Given the description of an element on the screen output the (x, y) to click on. 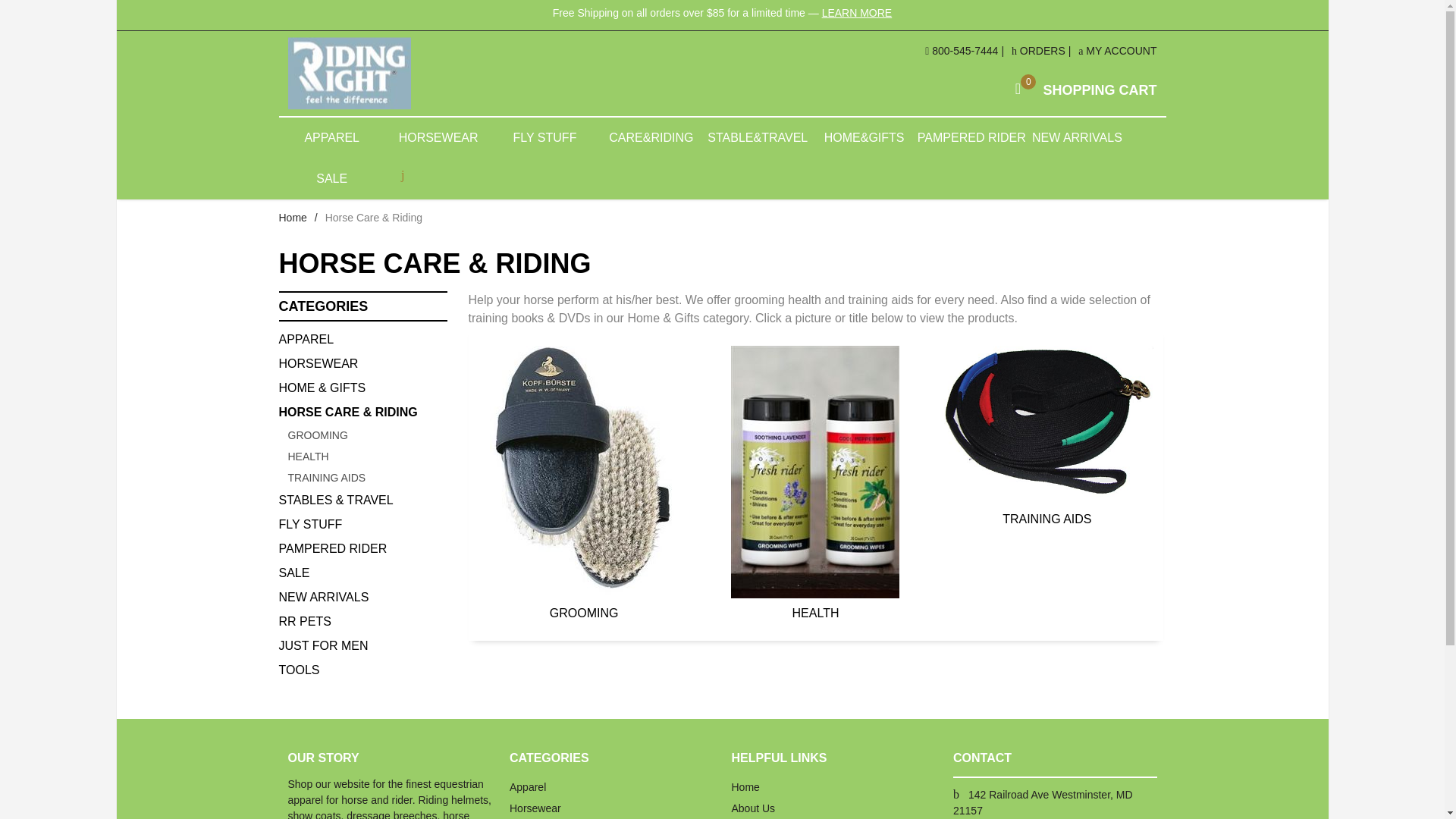
Training Aids (1046, 424)
Apparel (362, 339)
MY ACCOUNT (1081, 89)
Fly Stuff (1117, 50)
ORDERS (362, 524)
Health (1038, 50)
Home (367, 455)
Grooming (293, 217)
APPAREL (367, 435)
Welcome to Riding Right (332, 137)
LEARN MORE (349, 73)
Horsewear (857, 12)
Training Aids (362, 363)
RidingRight.com (1046, 436)
